Given the description of an element on the screen output the (x, y) to click on. 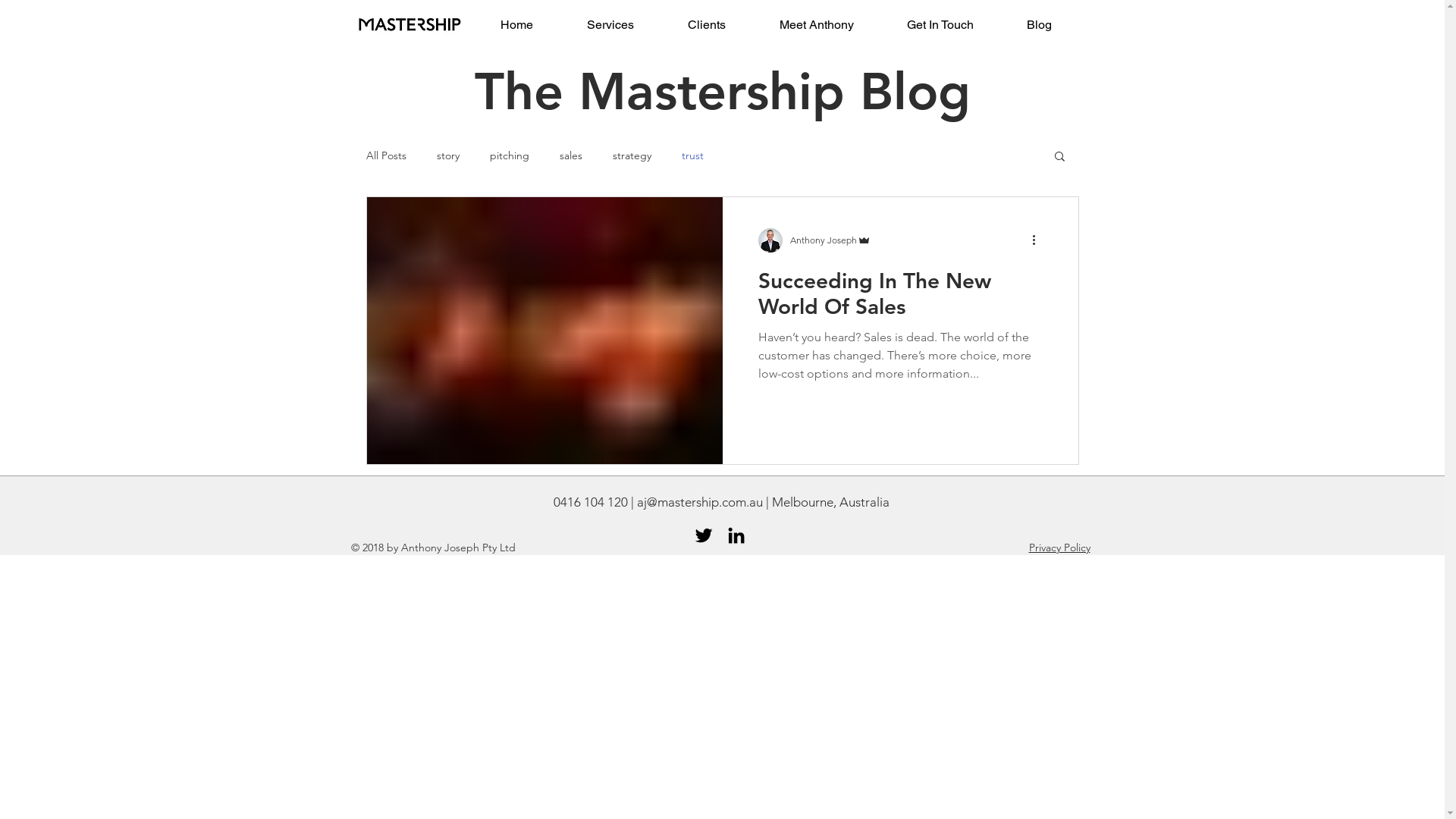
pitching Element type: text (509, 155)
Get In Touch Element type: text (939, 24)
Privacy Policy Element type: text (1058, 547)
Mastership.logo.mono.jpg Element type: hover (408, 24)
sales Element type: text (570, 155)
story Element type: text (447, 155)
Blog Element type: text (1038, 24)
strategy Element type: text (631, 155)
All Posts Element type: text (385, 155)
Home Element type: text (516, 24)
aj@mastership.com.au Element type: text (699, 501)
Clients Element type: text (707, 24)
Succeeding In The New World Of Sales Element type: text (899, 297)
trust Element type: text (691, 155)
Meet Anthony Element type: text (815, 24)
